Given the description of an element on the screen output the (x, y) to click on. 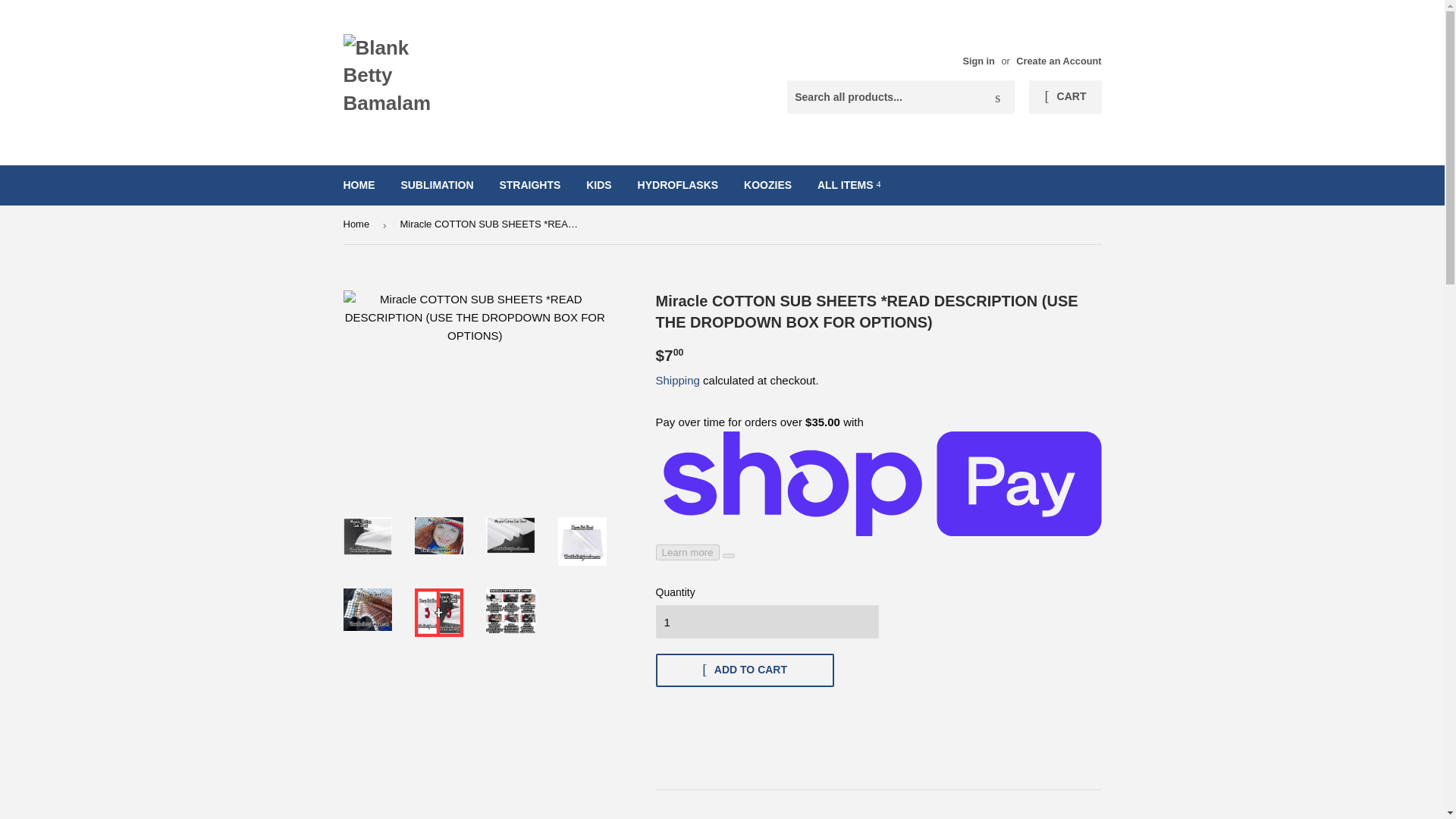
HOME (359, 184)
HYDROFLASKS (678, 184)
CART (1064, 96)
1 (766, 621)
STRAIGHTS (529, 184)
SUBLIMATION (436, 184)
KOOZIES (767, 184)
Sign in (978, 60)
KIDS (599, 184)
ALL ITEMS (849, 184)
Create an Account (1058, 60)
Search (996, 97)
